Given the description of an element on the screen output the (x, y) to click on. 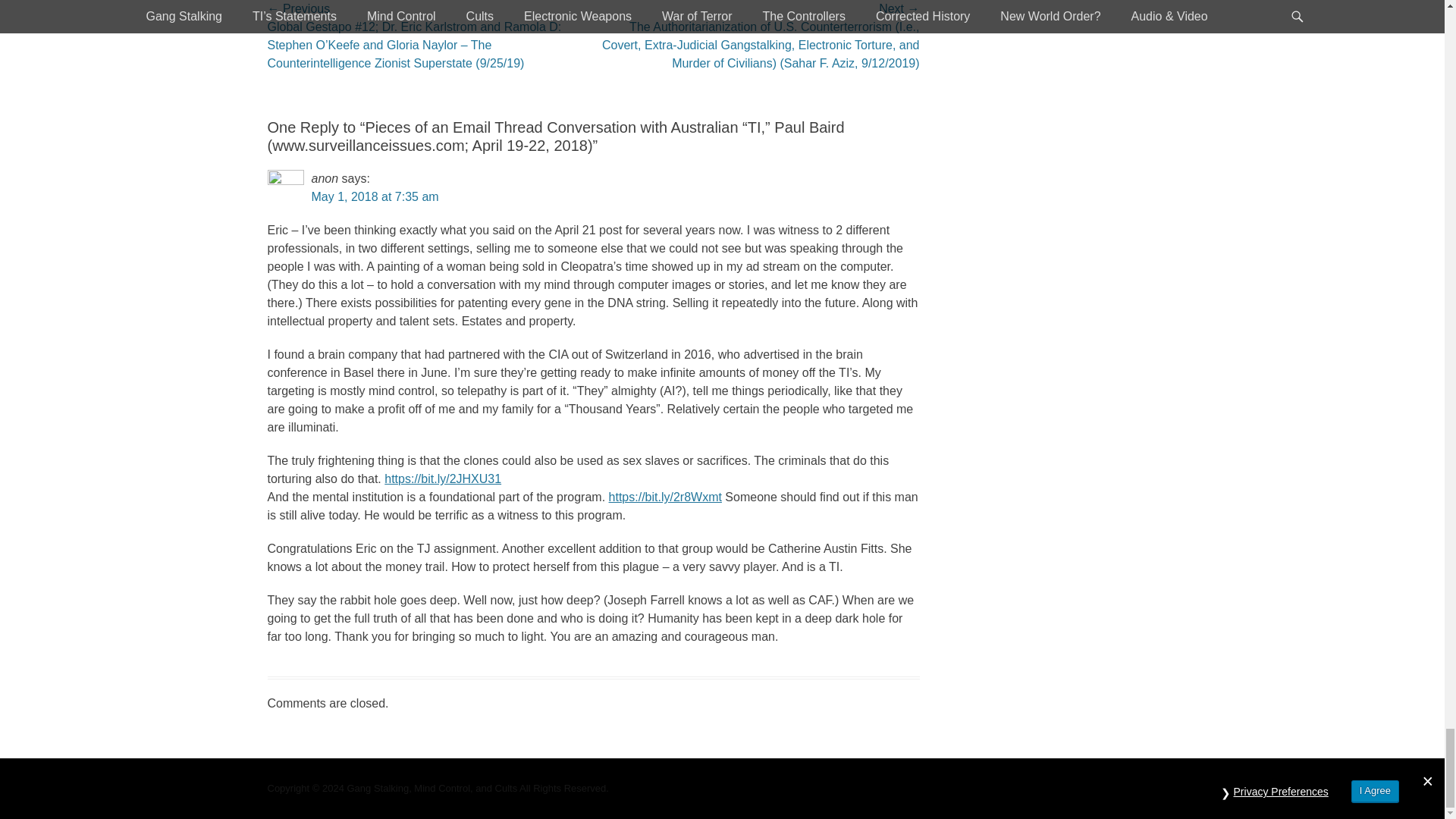
May 1, 2018 at 7:35 am (374, 196)
